Given the description of an element on the screen output the (x, y) to click on. 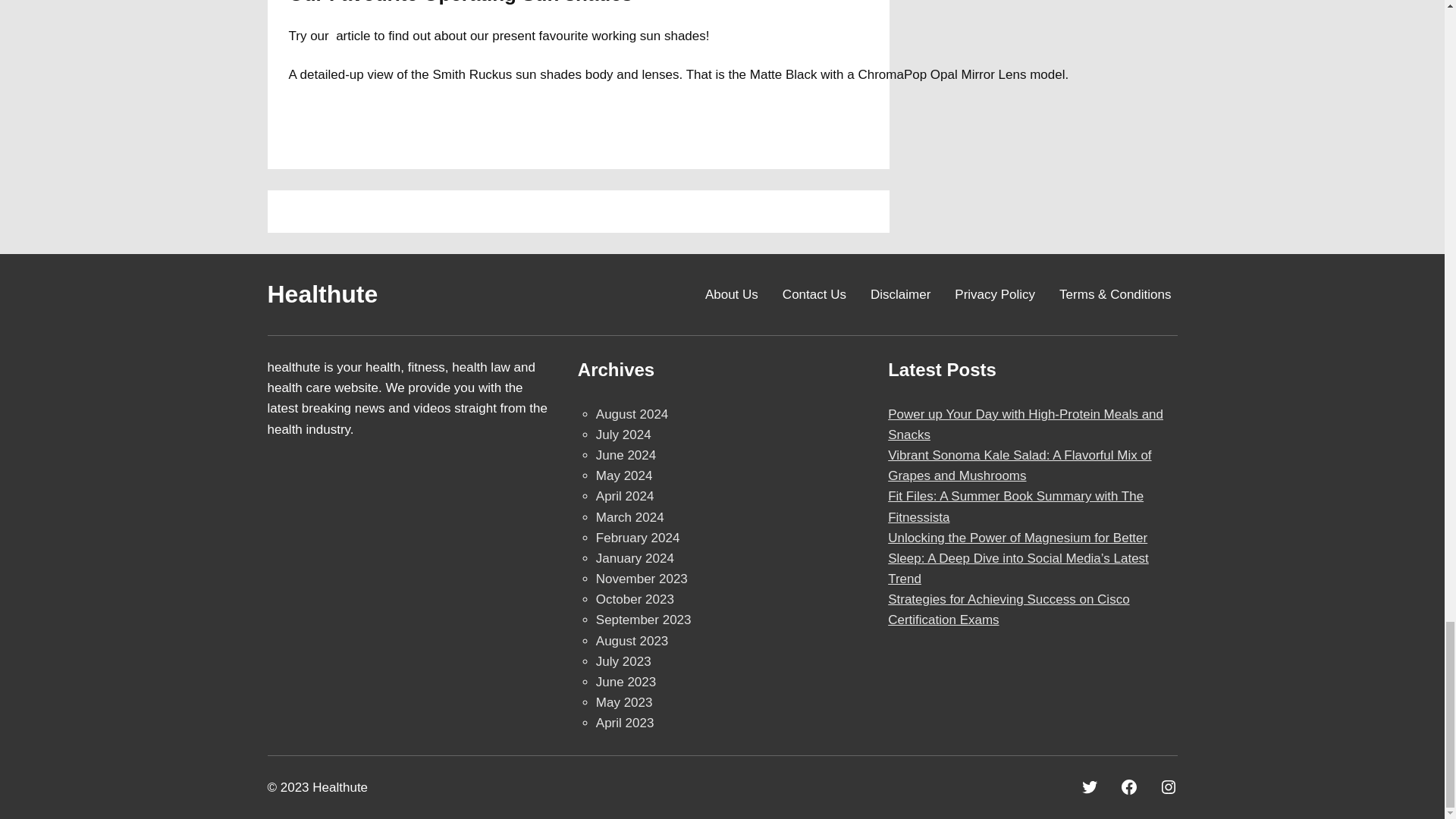
Contact Us (813, 294)
About Us (731, 294)
Disclaimer (900, 294)
Healthute (321, 293)
Privacy Policy (995, 294)
